Given the description of an element on the screen output the (x, y) to click on. 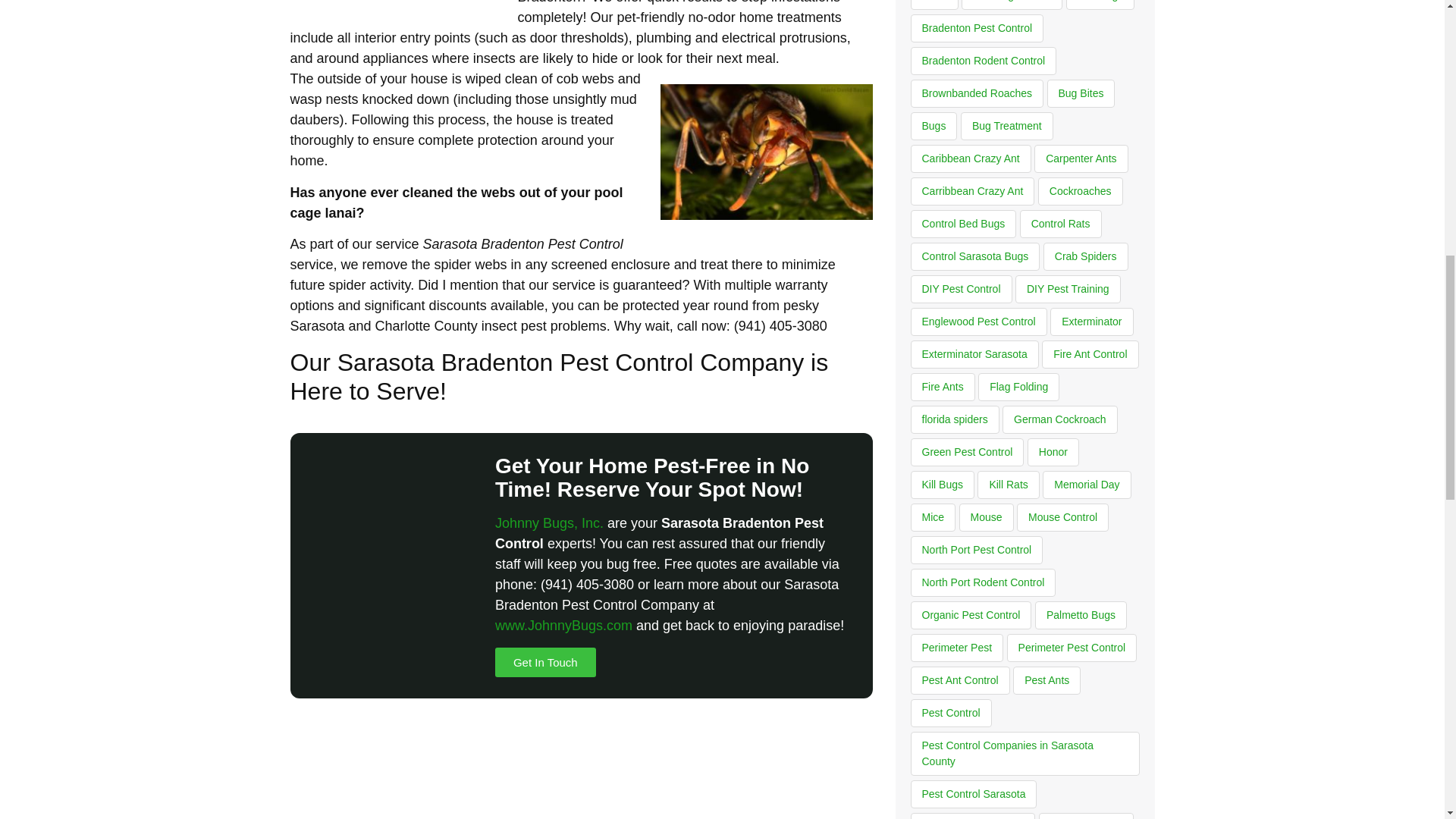
ANTs (934, 4)
Bed Bug Control (1011, 4)
Get In Touch (545, 662)
Johnny Bugs, Inc. (549, 522)
www.JohnnyBugs.com (563, 625)
Bradenton Pest Control (976, 28)
Bed Bugs (1100, 4)
